Given the description of an element on the screen output the (x, y) to click on. 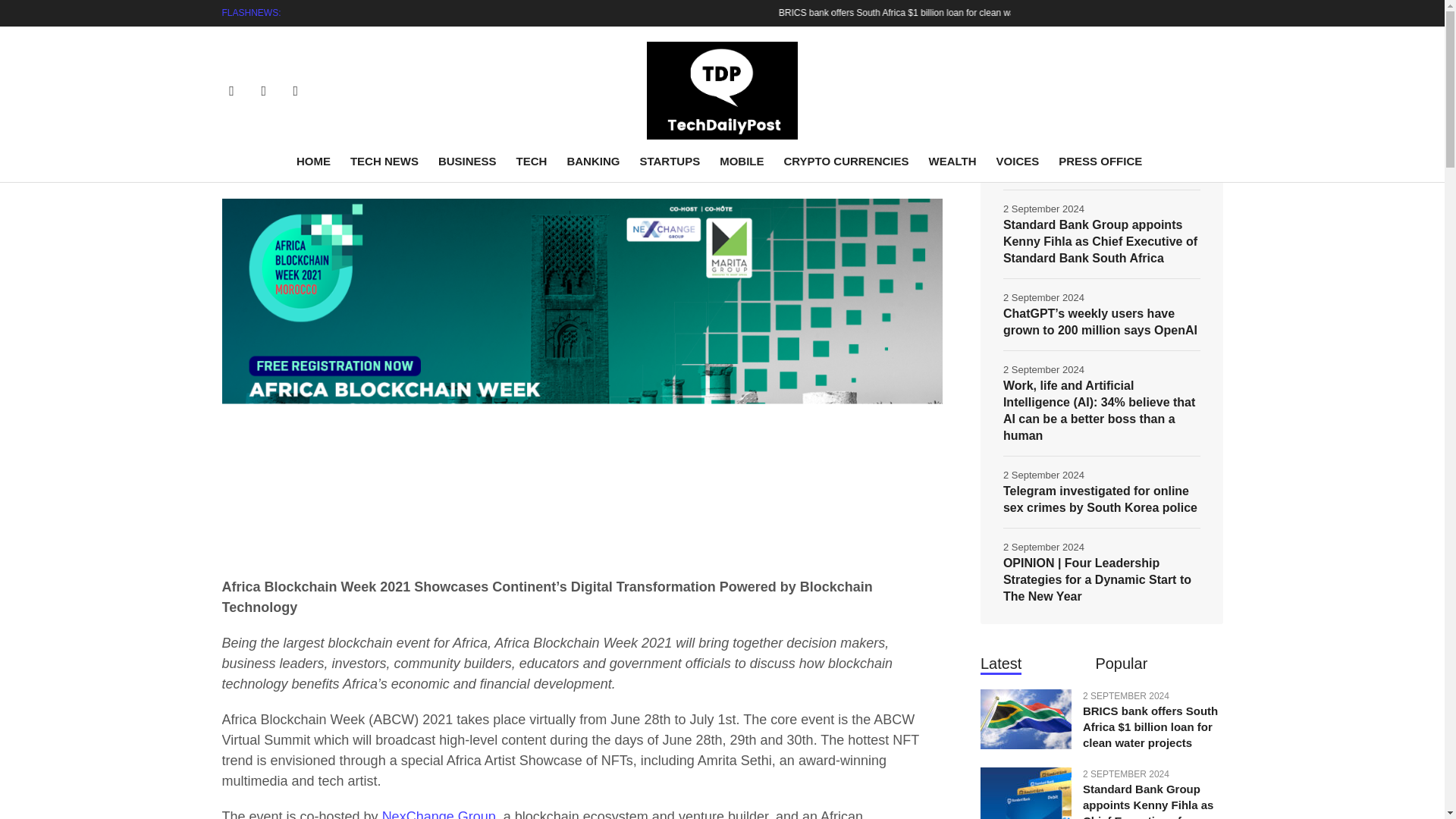
MOBILE (741, 160)
BUSINESS (253, 55)
BUSINESS (467, 160)
TECH NEWS (384, 160)
0 (932, 175)
TECH (531, 160)
HOME (317, 160)
0 (901, 175)
WEALTH (952, 160)
VOICES (1018, 160)
